Given the description of an element on the screen output the (x, y) to click on. 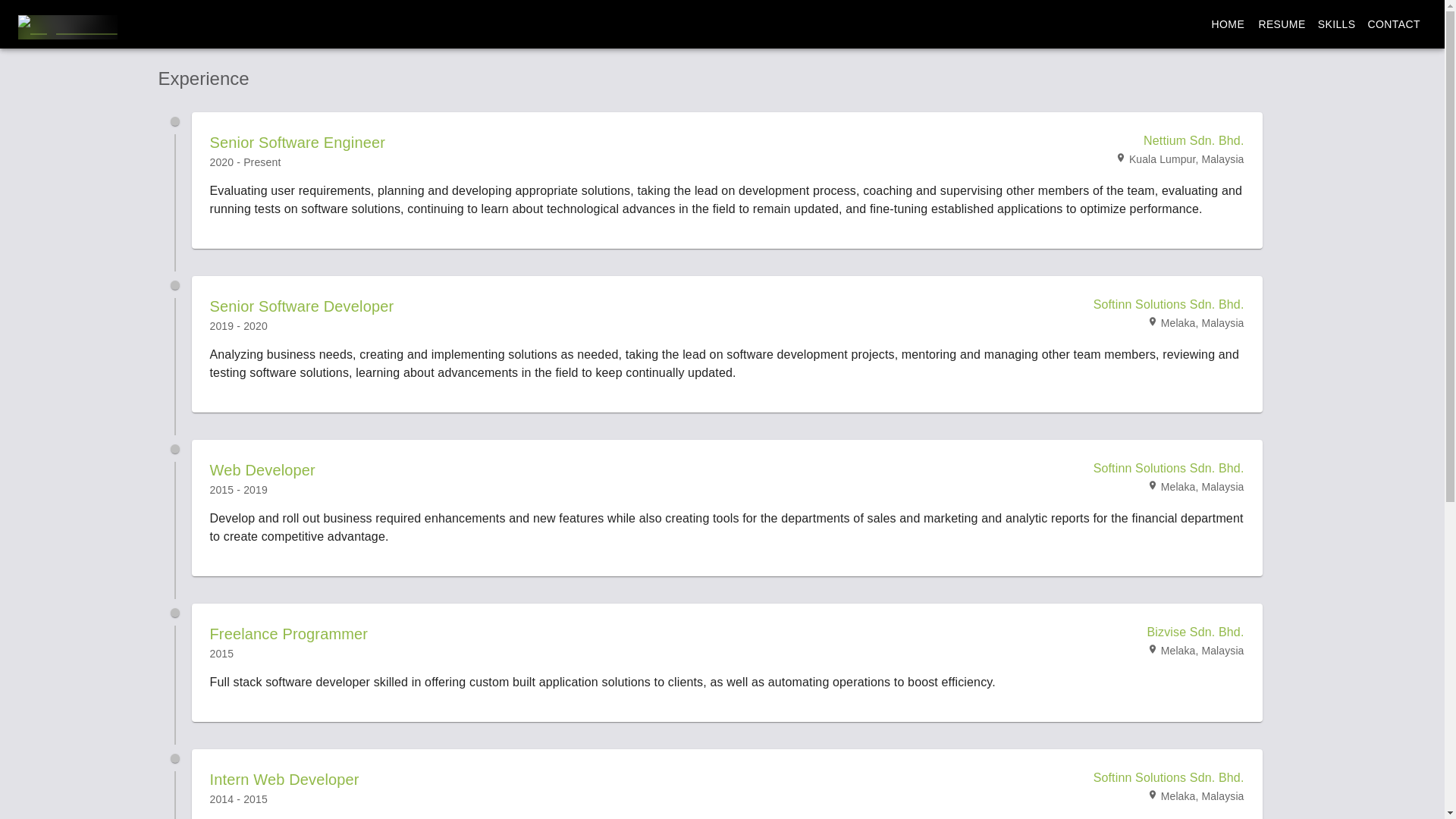
HOME (1228, 24)
RESUME (1281, 24)
CONTACT (1393, 24)
SKILLS (1336, 24)
